Given the description of an element on the screen output the (x, y) to click on. 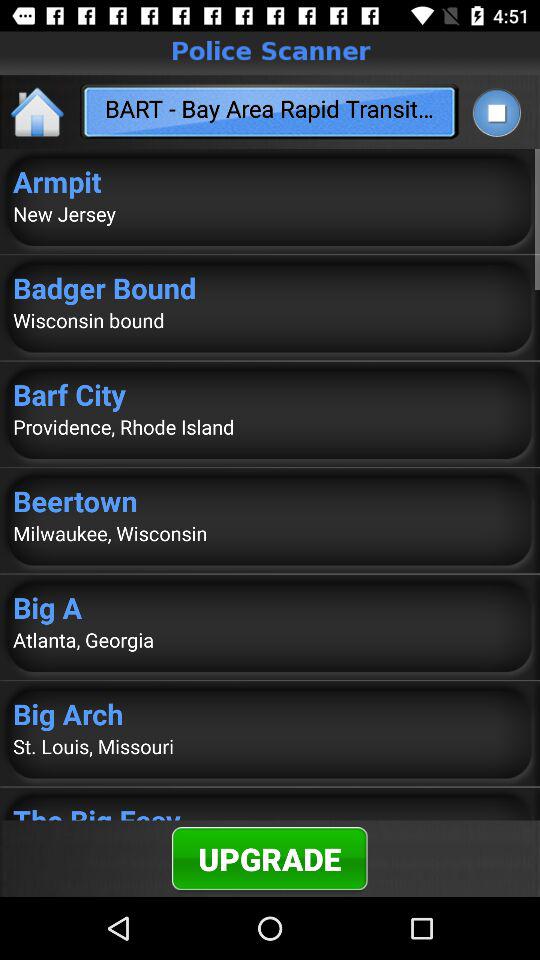
swipe to the milwaukee, wisconsin icon (269, 533)
